Given the description of an element on the screen output the (x, y) to click on. 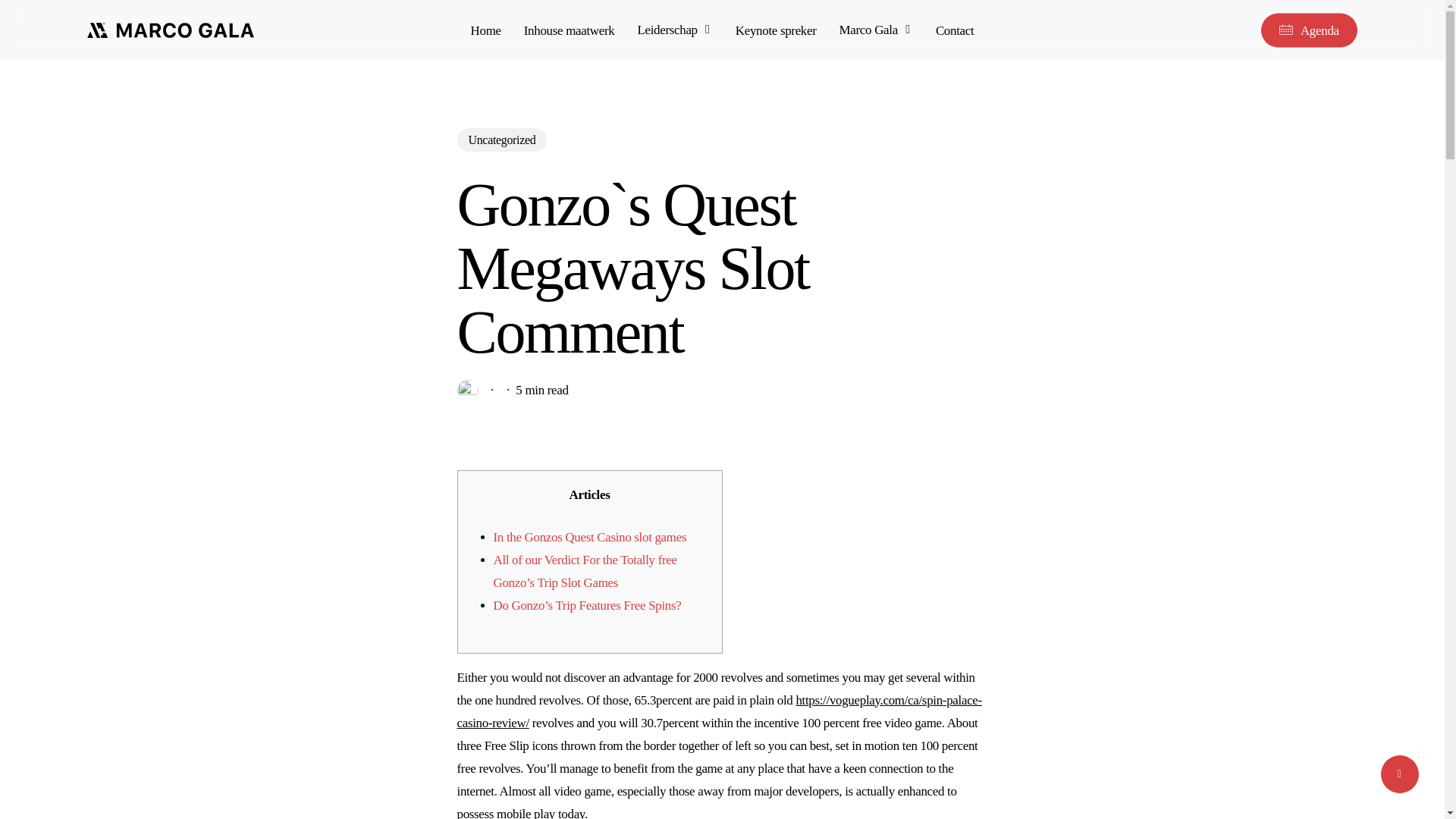
Uncategorized (502, 139)
Contact (955, 30)
In the Gonzos Quest Casino slot games (589, 536)
Marco Gala (876, 29)
Home (485, 30)
Agenda (1308, 30)
Inhouse maatwerk (569, 30)
Keynote spreker (775, 30)
Leiderschap (674, 29)
